Given the description of an element on the screen output the (x, y) to click on. 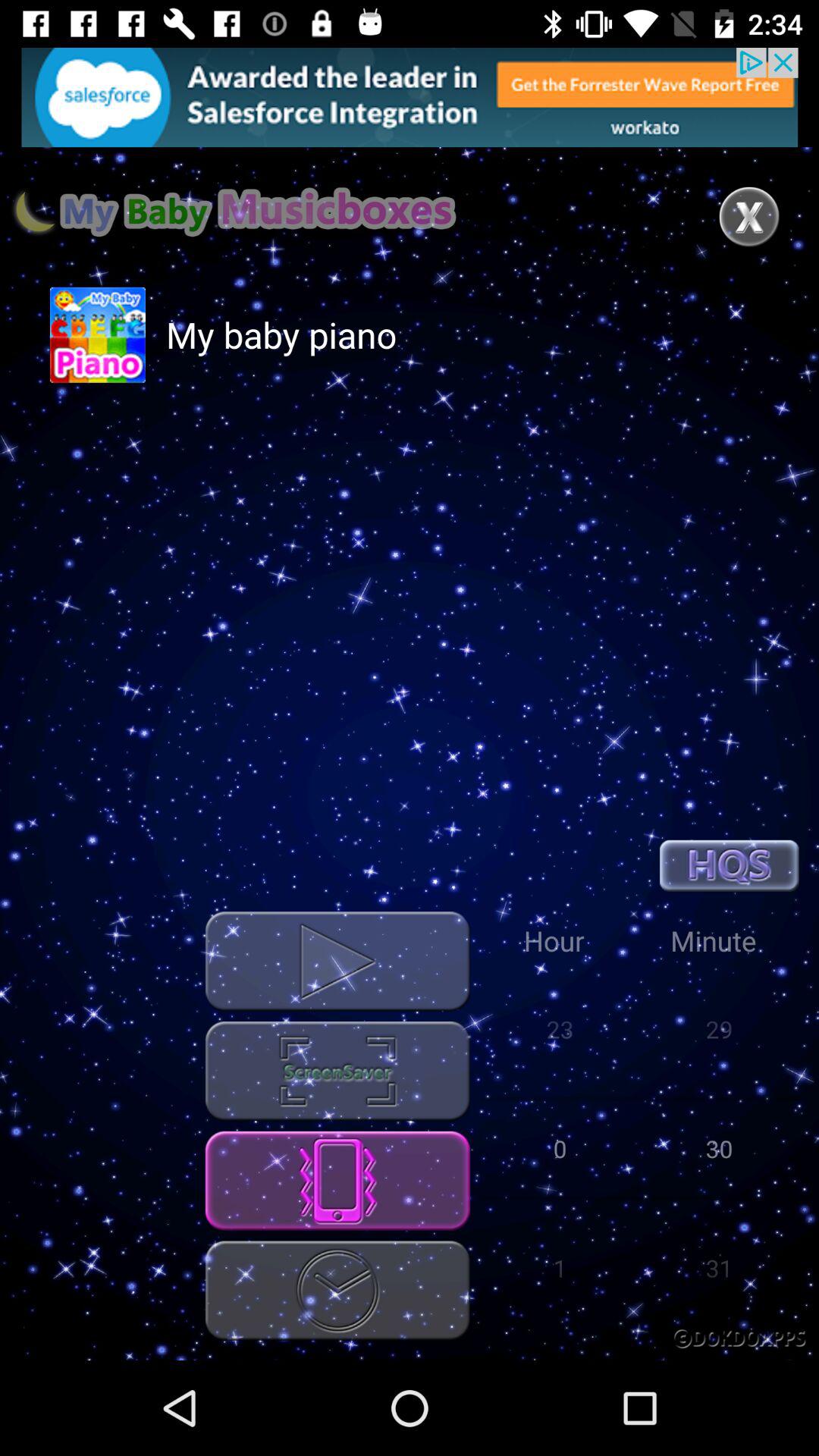
select theme option (337, 1071)
